Given the description of an element on the screen output the (x, y) to click on. 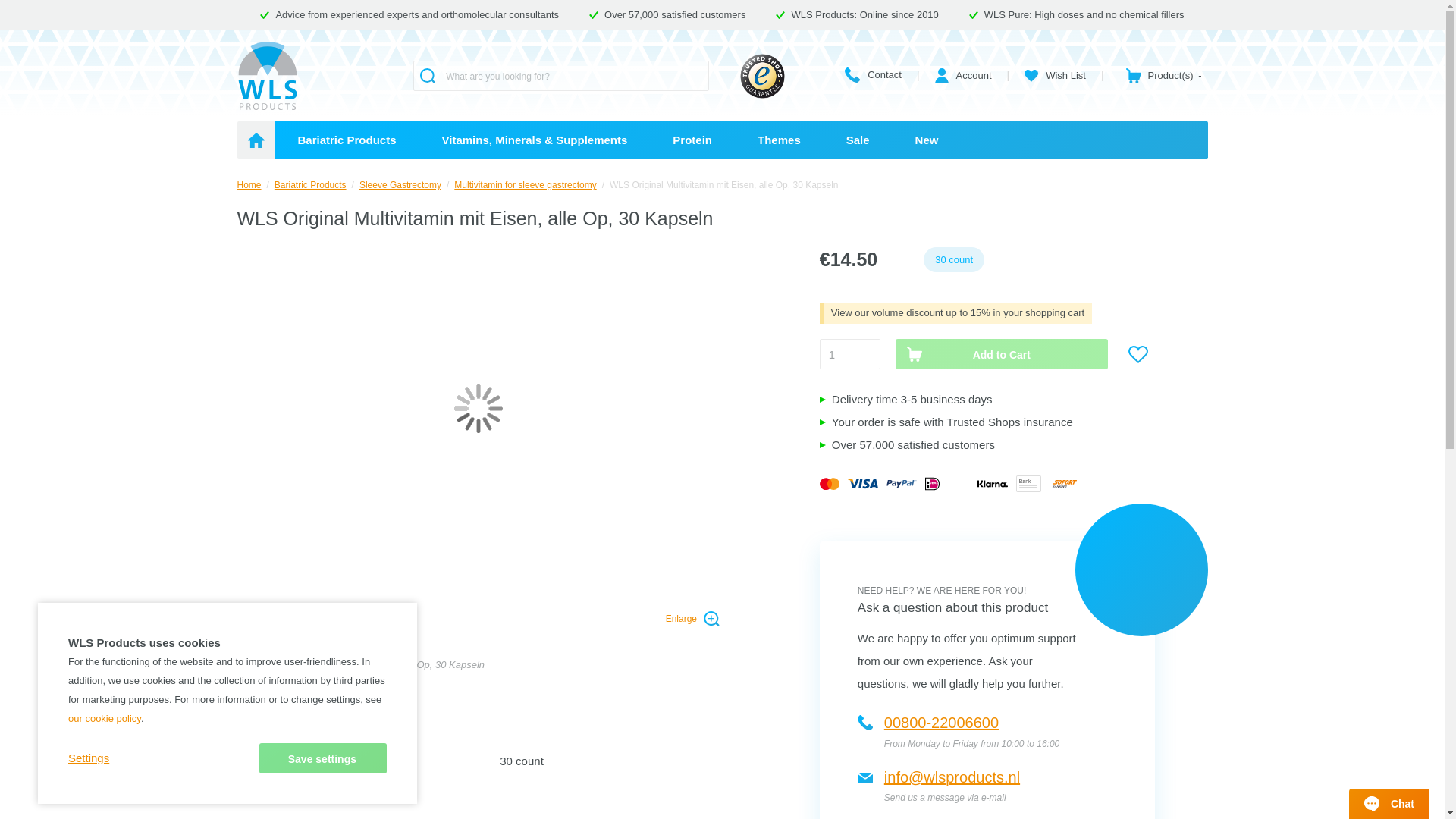
Wish List (1055, 75)
Bariatric Products (347, 139)
Save settings (323, 757)
WLS Products (266, 75)
Add to Cart (1001, 354)
Contact (872, 74)
Go to Home Page (247, 184)
Quantity (849, 354)
Account (962, 75)
Settings (88, 757)
